Given the description of an element on the screen output the (x, y) to click on. 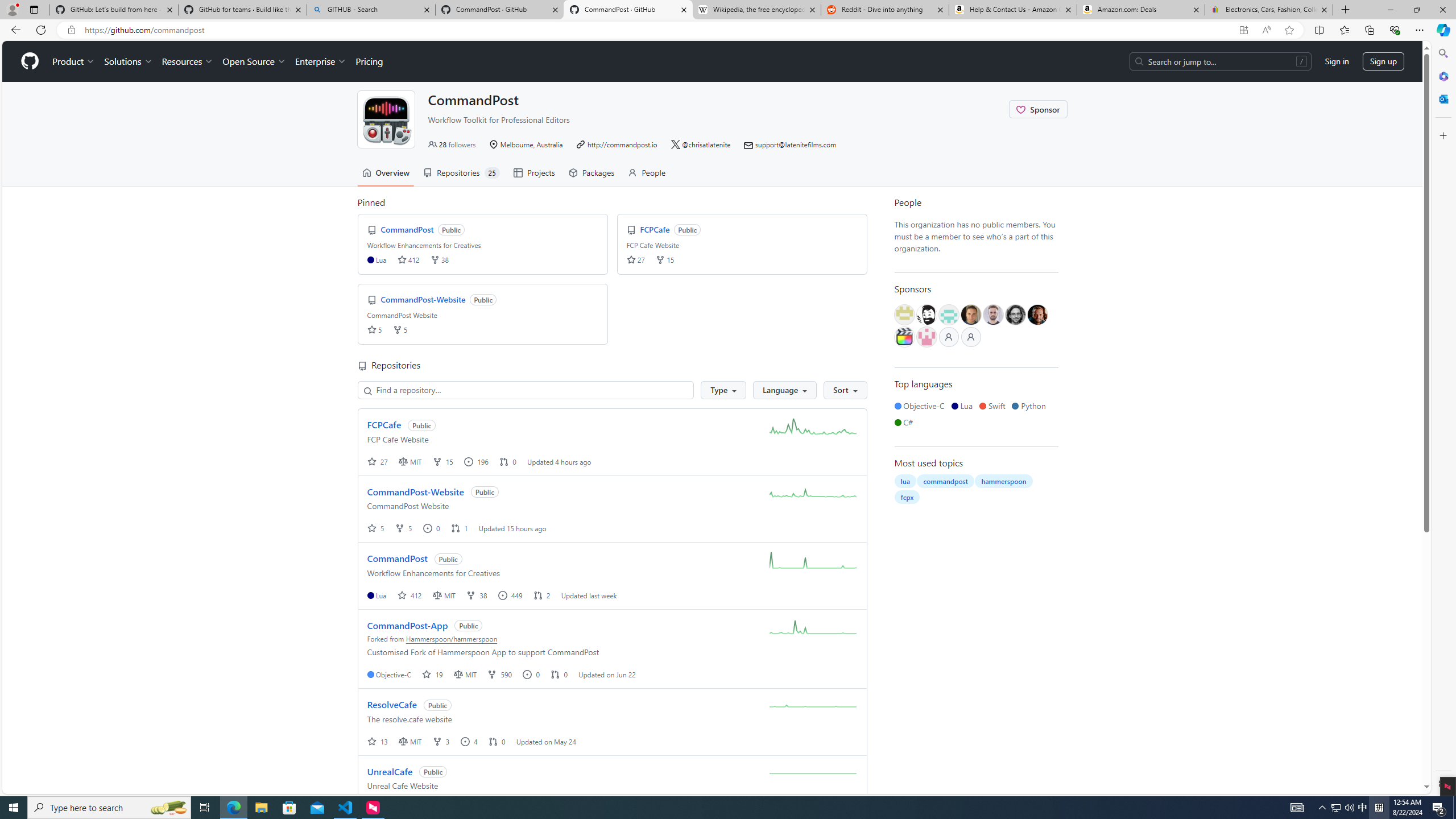
Swift (994, 405)
 0  (496, 741)
forks 15 (664, 259)
Solutions (128, 60)
CommandPost (397, 558)
App available. Install GitHub (1243, 29)
 412  (410, 595)
fork 3  (441, 741)
@chrisatlatenite (700, 144)
28 followers (452, 144)
 4  (469, 741)
